Given the description of an element on the screen output the (x, y) to click on. 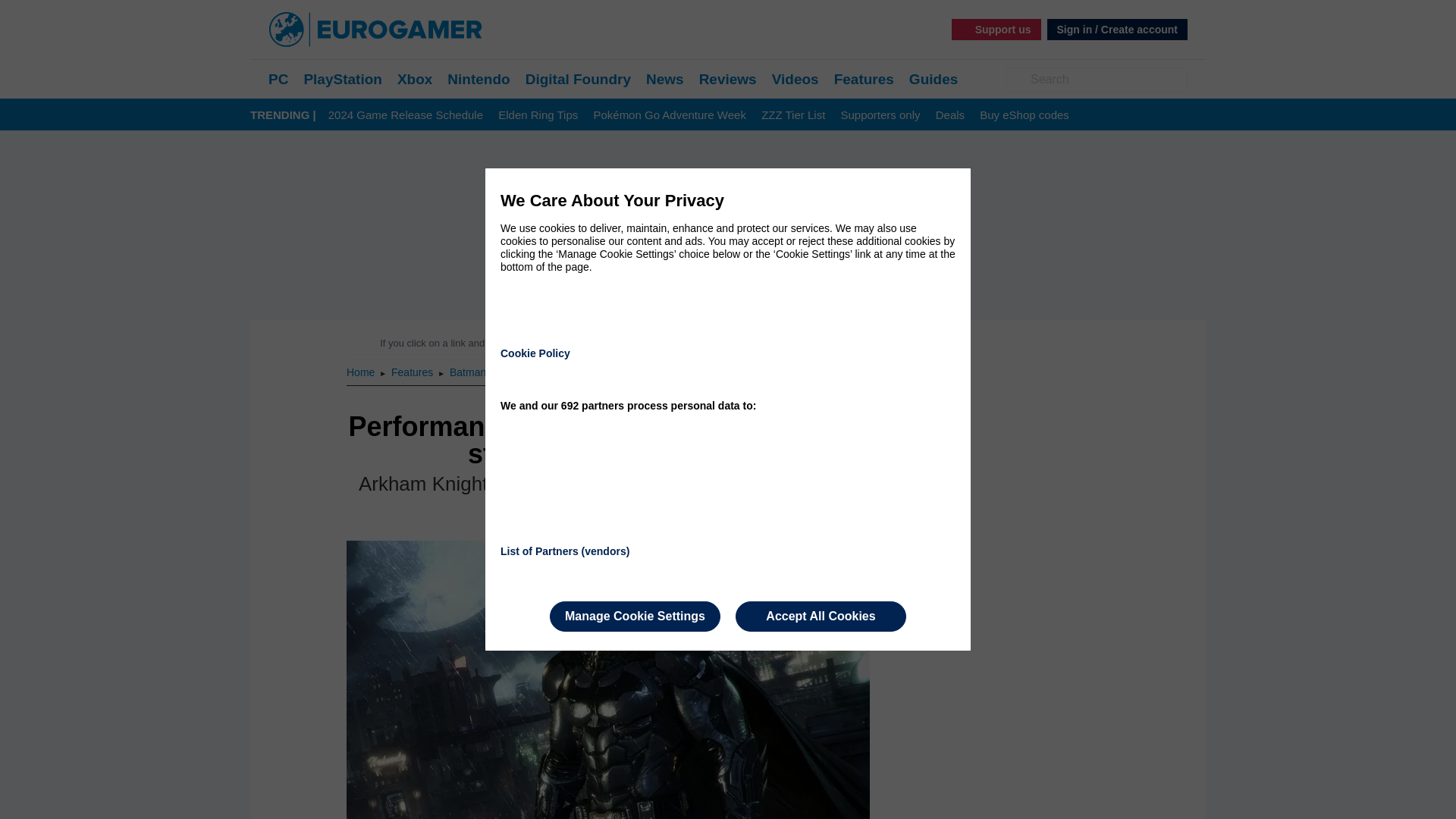
Xbox (414, 78)
ZZZ Tier List (793, 114)
Home (361, 372)
Digital Foundry (577, 78)
Elden Ring Tips (537, 114)
Features (413, 372)
News (665, 78)
Reviews (727, 78)
Supporters only (880, 114)
Support us (996, 29)
